Given the description of an element on the screen output the (x, y) to click on. 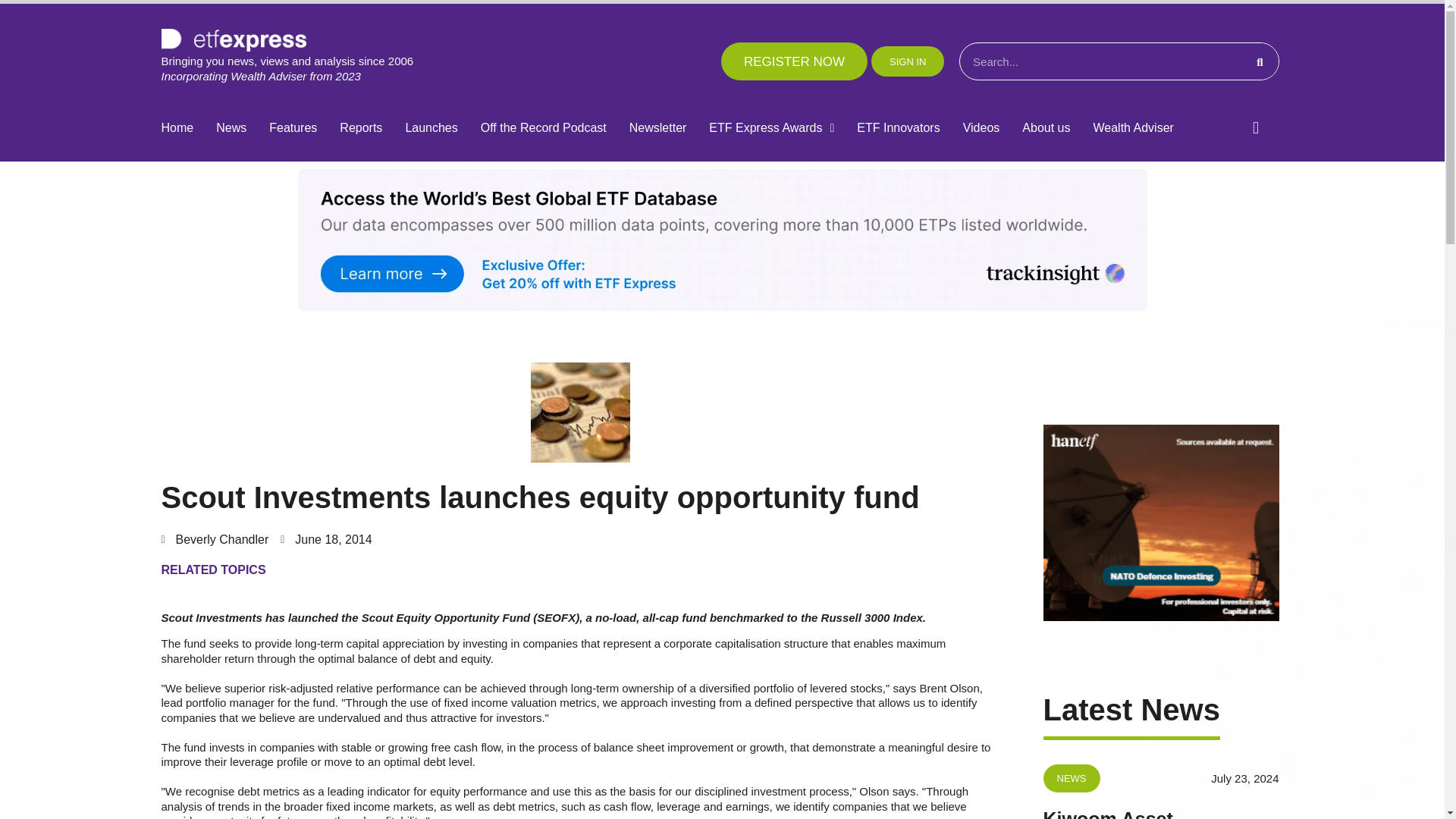
Features (293, 128)
REGISTER NOW (793, 61)
SIGN IN (906, 60)
